Given the description of an element on the screen output the (x, y) to click on. 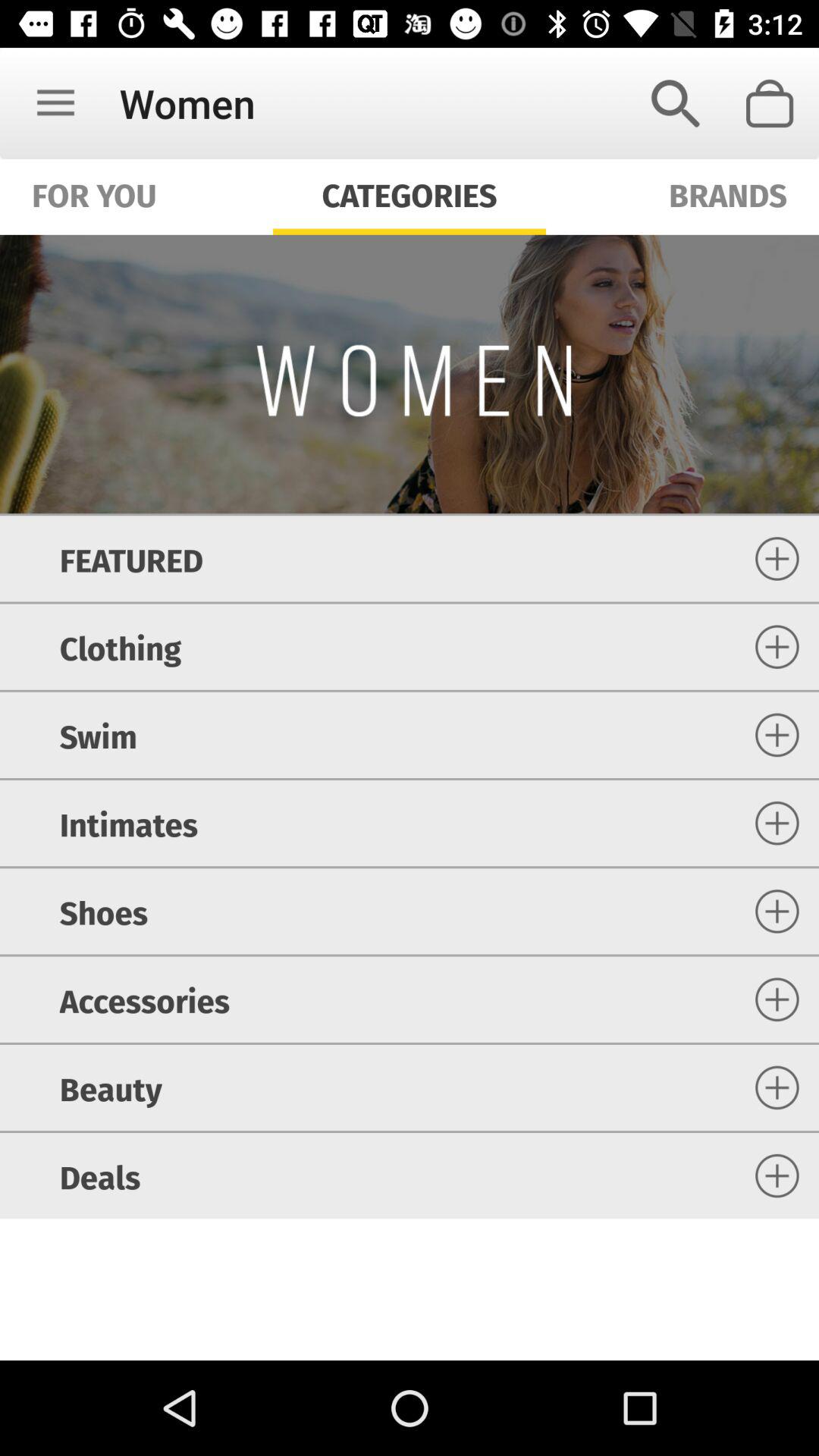
choose icon below swim (128, 823)
